Given the description of an element on the screen output the (x, y) to click on. 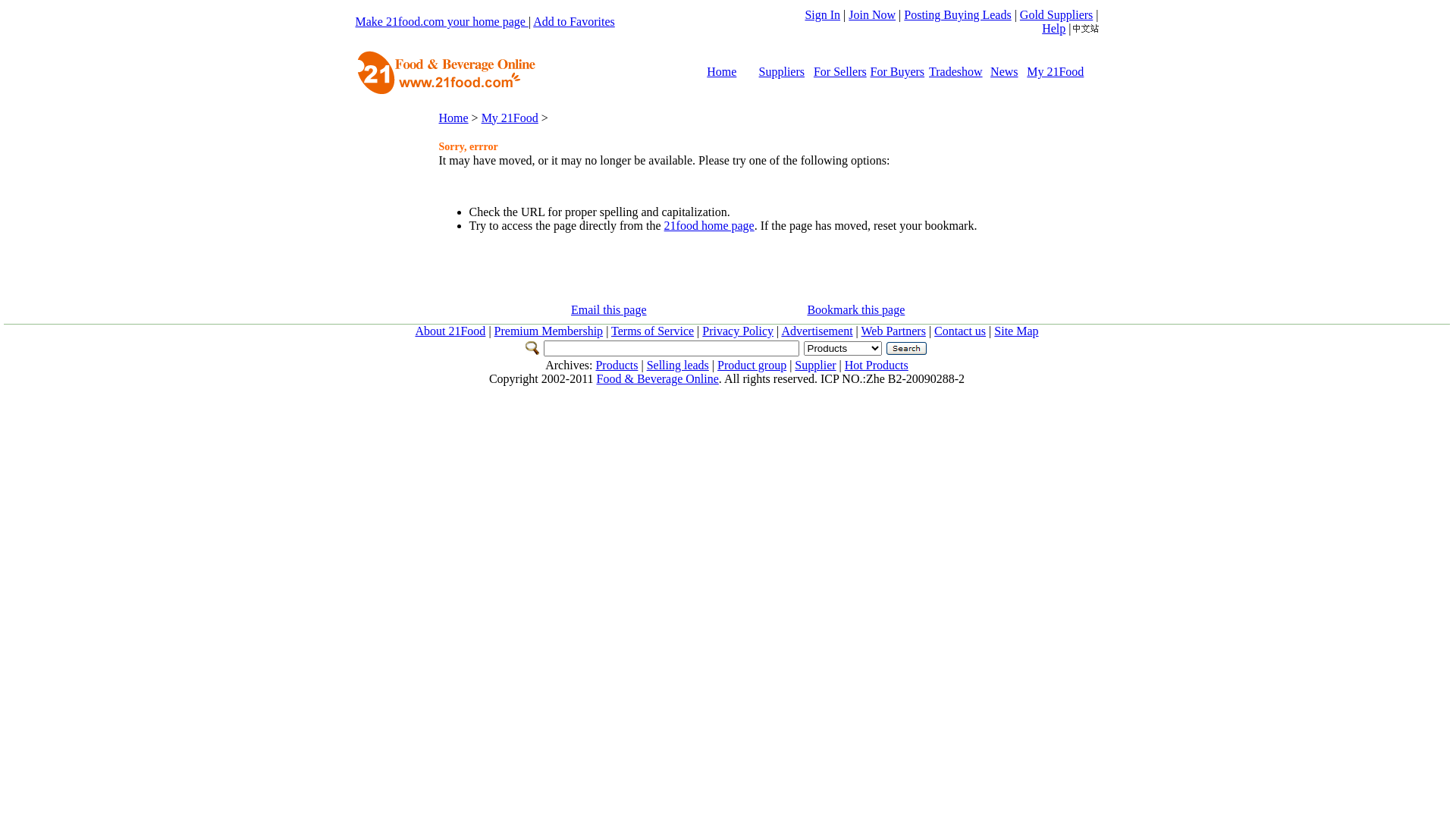
Tradeshow Element type: text (955, 71)
Home Element type: text (452, 116)
Help Element type: text (1053, 27)
21food home page Element type: text (709, 225)
Privacy Policy Element type: text (737, 330)
About 21Food Element type: text (449, 330)
Make 21food.com your home page Element type: text (440, 21)
Contact us Element type: text (959, 330)
Bookmark this page Element type: text (855, 309)
Add to Favorites Element type: text (574, 21)
Suppliers Element type: text (781, 71)
Premium Membership Element type: text (548, 330)
Hot Products Element type: text (876, 364)
Product group Element type: text (751, 364)
Sign In Element type: text (822, 14)
Selling leads Element type: text (677, 364)
For Sellers Element type: text (839, 71)
Site Map Element type: text (1016, 330)
My 21Food Element type: text (1054, 71)
Terms of Service Element type: text (652, 330)
Home Element type: text (721, 71)
Web Partners Element type: text (893, 330)
Products Element type: text (616, 364)
Gold Suppliers Element type: text (1055, 14)
My 21Food Element type: text (509, 116)
Posting Buying Leads Element type: text (956, 14)
Join Now Element type: text (871, 14)
News Element type: text (1003, 71)
For Buyers Element type: text (897, 71)
Advertisement Element type: text (816, 330)
Food & Beverage Online Element type: text (657, 378)
Email this page Element type: text (608, 309)
Supplier Element type: text (814, 364)
